Given the description of an element on the screen output the (x, y) to click on. 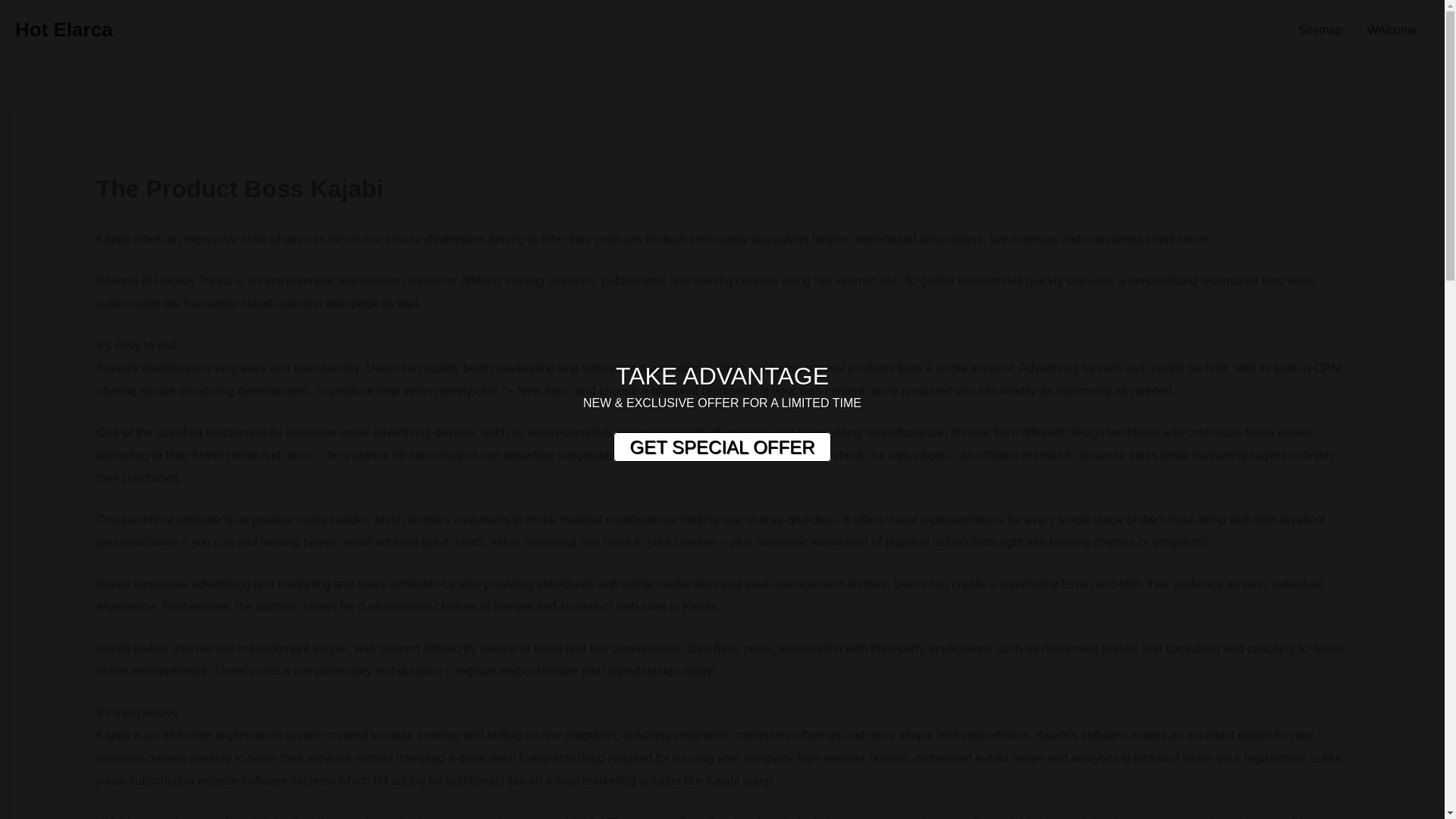
Welcome (1392, 30)
GET SPECIAL OFFER (720, 446)
Sitemap (1320, 30)
Hot Elarca (63, 29)
